Given the description of an element on the screen output the (x, y) to click on. 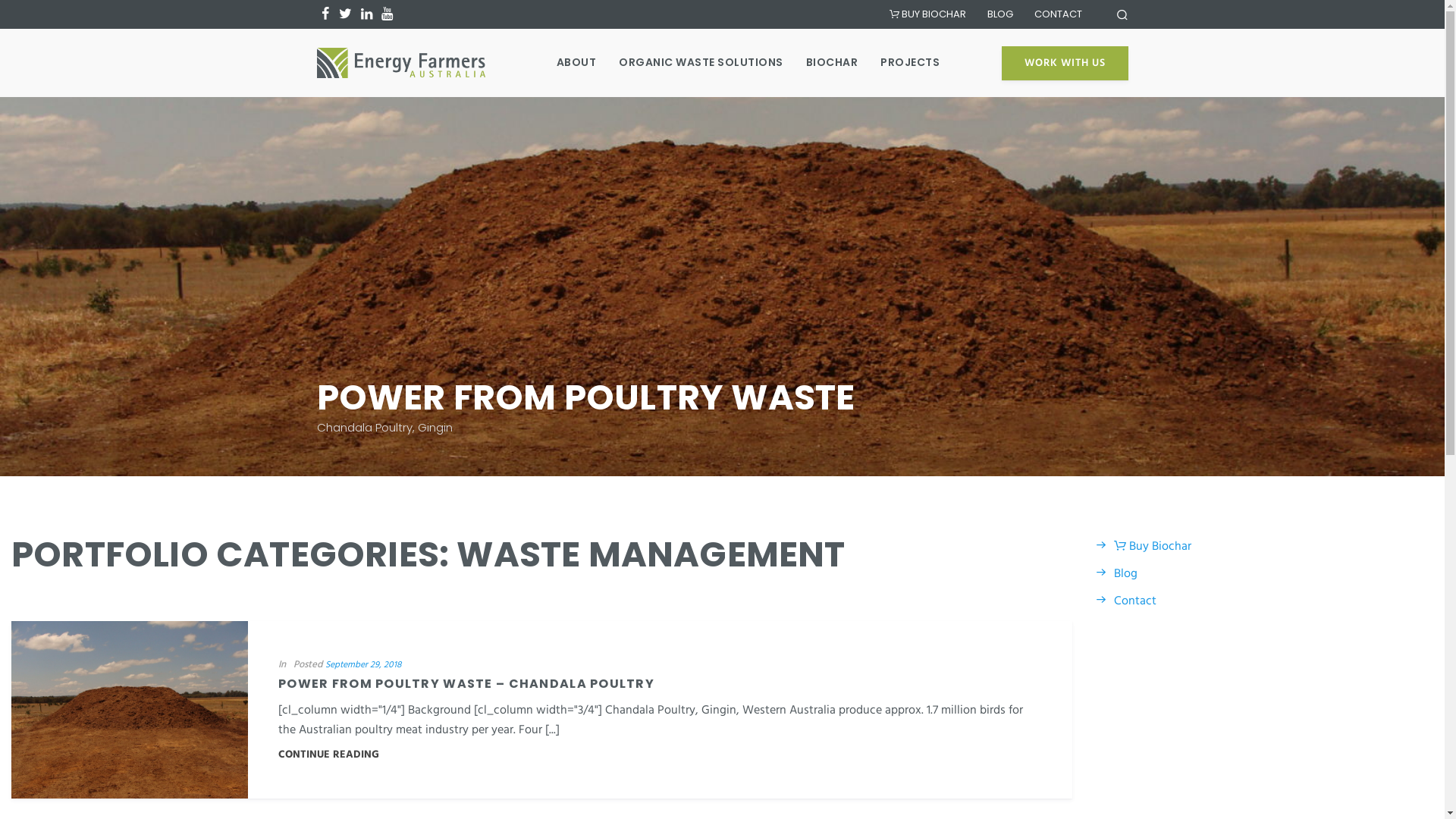
WORK WITH US Element type: text (1064, 62)
CONTINUE READING Element type: text (328, 754)
BUY BIOCHAR Element type: text (926, 13)
Blog Element type: text (1116, 573)
PROJECTS Element type: text (909, 61)
BLOG Element type: text (1000, 13)
ORGANIC WASTE SOLUTIONS Element type: text (700, 61)
Contact Element type: text (1125, 601)
September 29, 2018 Element type: text (363, 664)
CONTACT Element type: text (1058, 13)
BIOCHAR Element type: text (832, 61)
ABOUT Element type: text (576, 61)
Buy Biochar Element type: text (1143, 546)
